Given the description of an element on the screen output the (x, y) to click on. 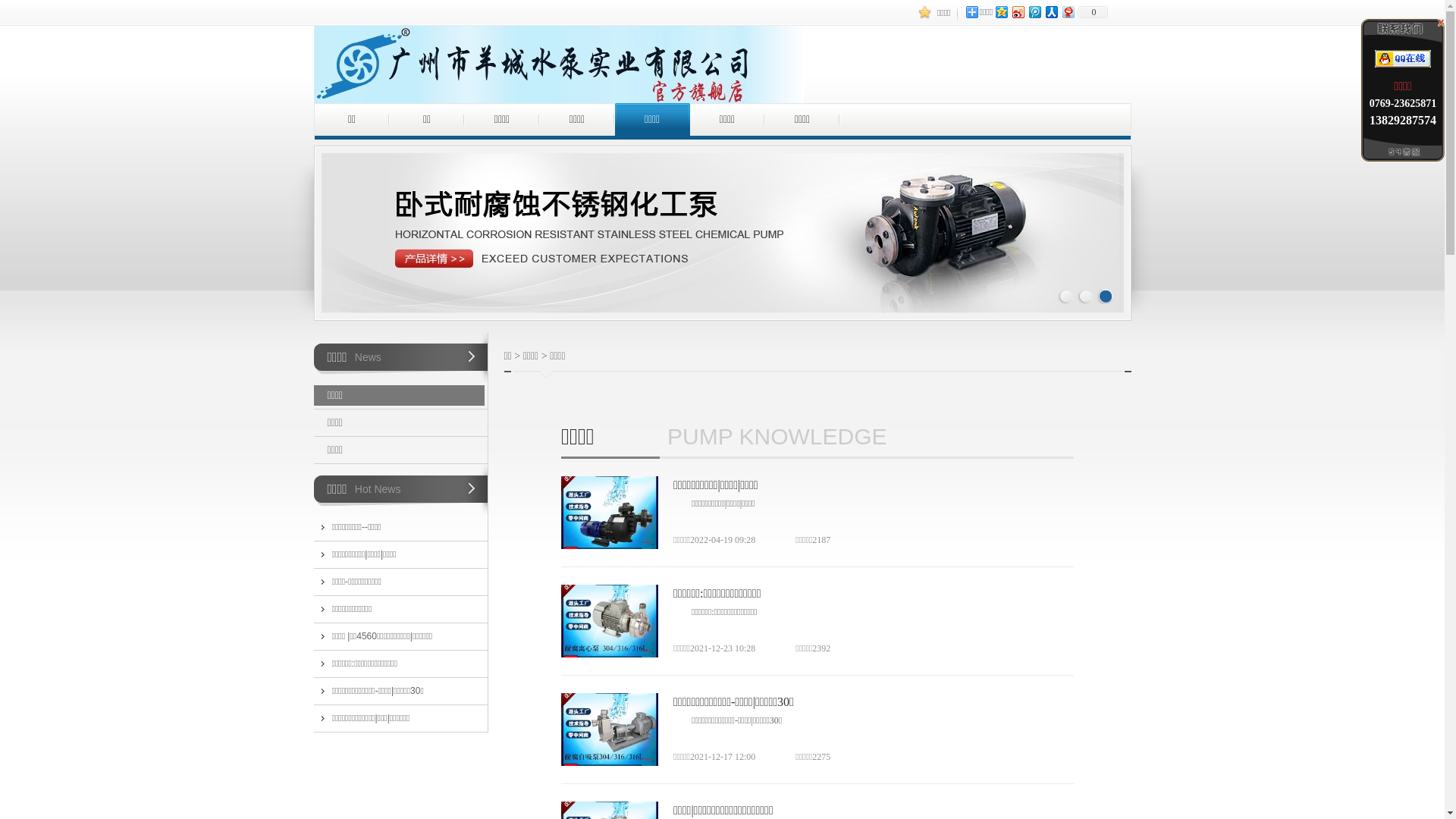
0 Element type: text (1091, 12)
